Given the description of an element on the screen output the (x, y) to click on. 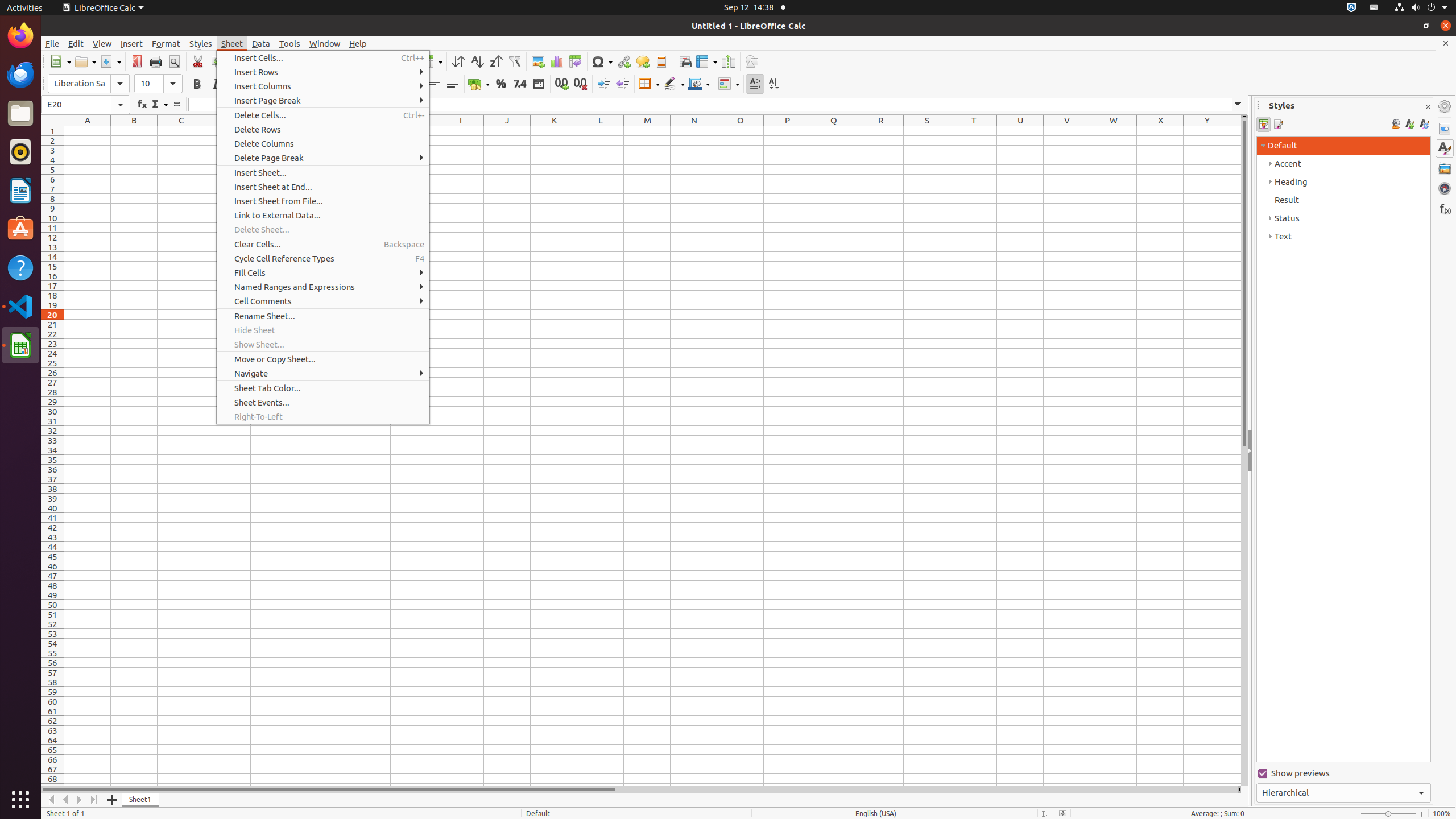
Visual Studio Code Element type: push-button (20, 306)
L1 Element type: table-cell (600, 130)
Sort Ascending Element type: push-button (476, 61)
I1 Element type: table-cell (460, 130)
Chart Element type: push-button (556, 61)
